Given the description of an element on the screen output the (x, y) to click on. 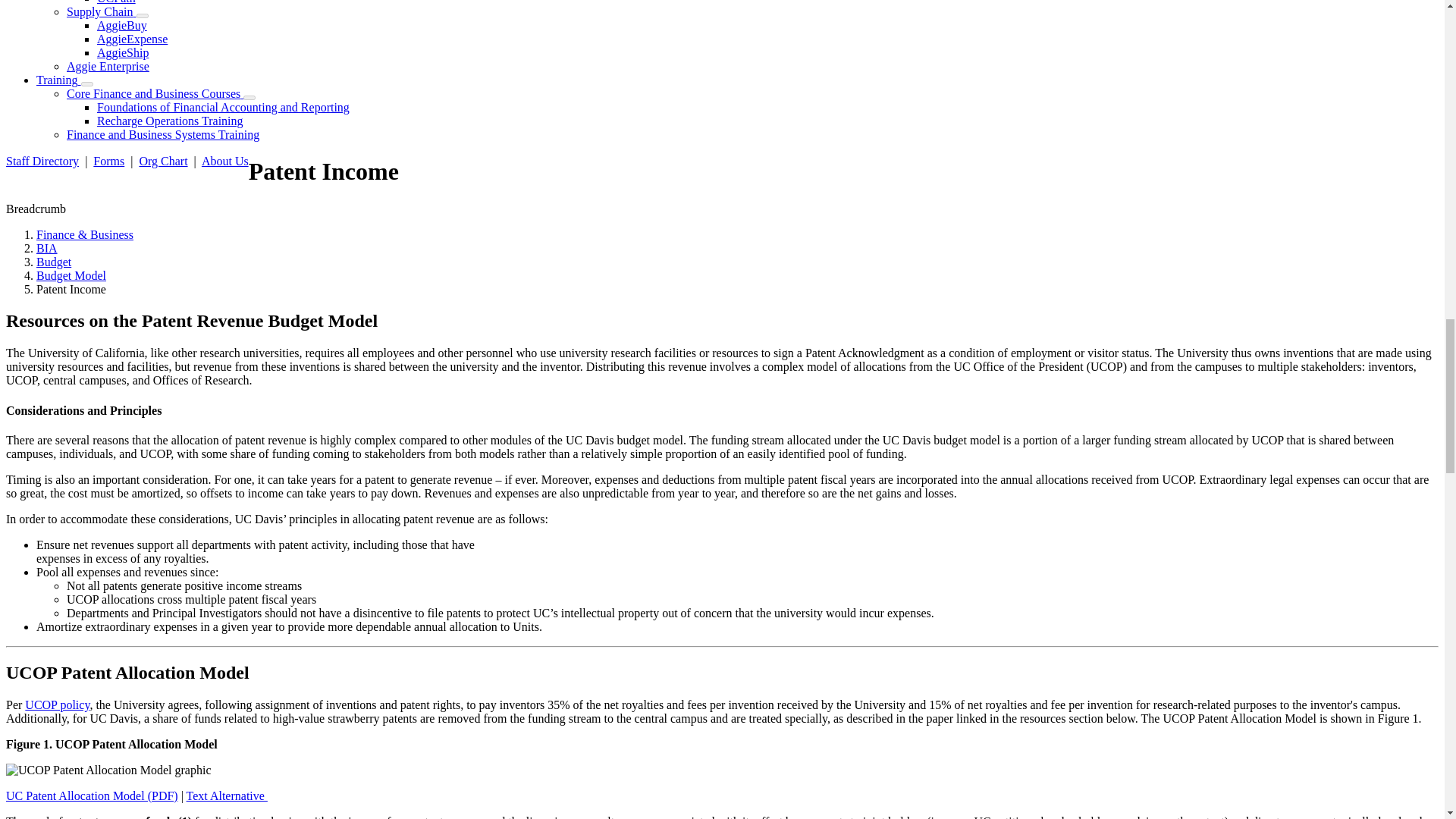
Core Finance and Business Courses (154, 92)
Finance and Business Training (58, 79)
Foundations of Financial Accounting and Reporting (223, 106)
